Given the description of an element on the screen output the (x, y) to click on. 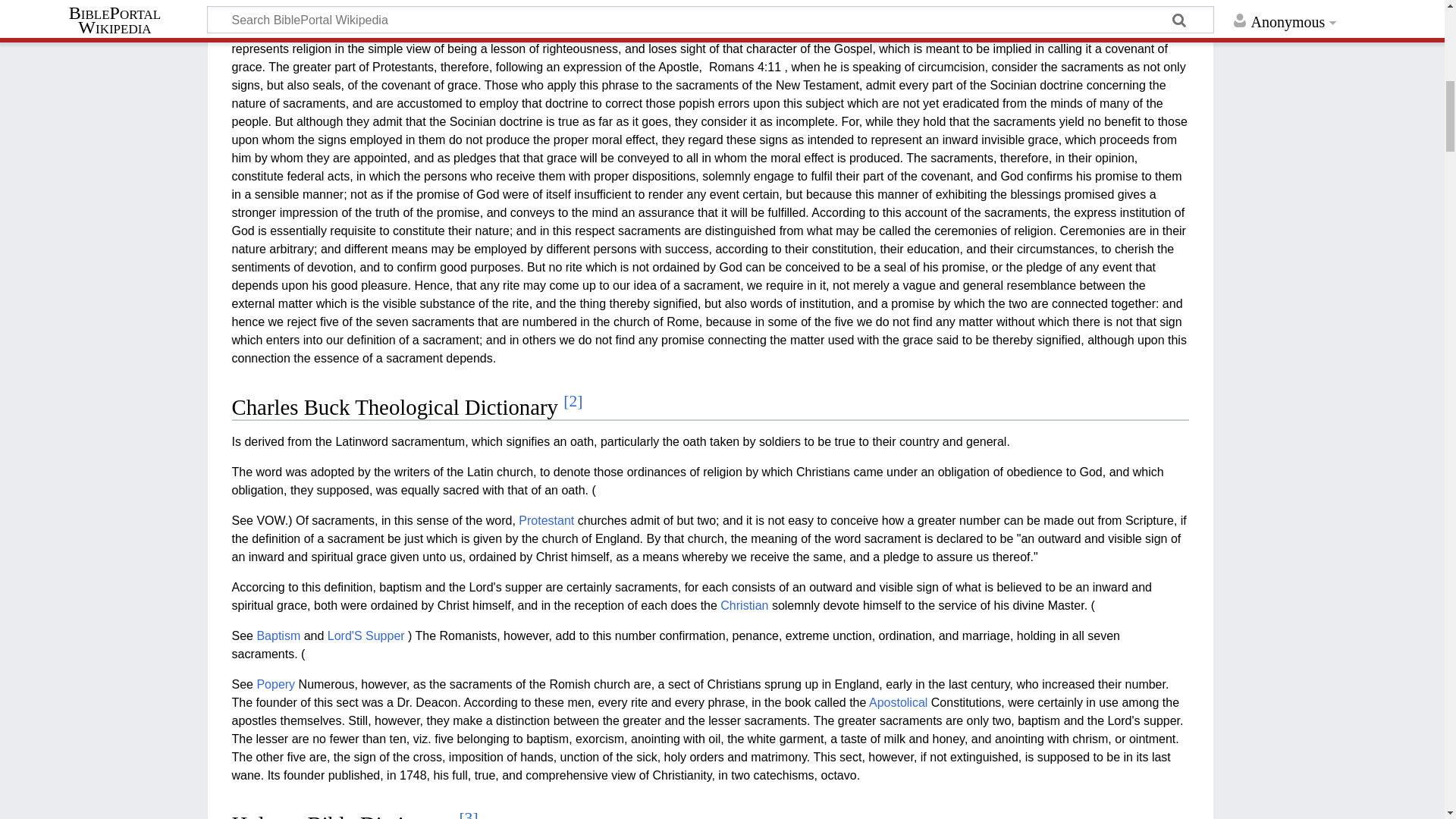
Apostolical (898, 702)
Popery (275, 684)
Protestant (545, 520)
Christians (590, 11)
Protestant (545, 520)
Christian (744, 604)
Lord'S Supper (365, 635)
Baptism (277, 635)
Baptism (277, 635)
Christian (744, 604)
